Given the description of an element on the screen output the (x, y) to click on. 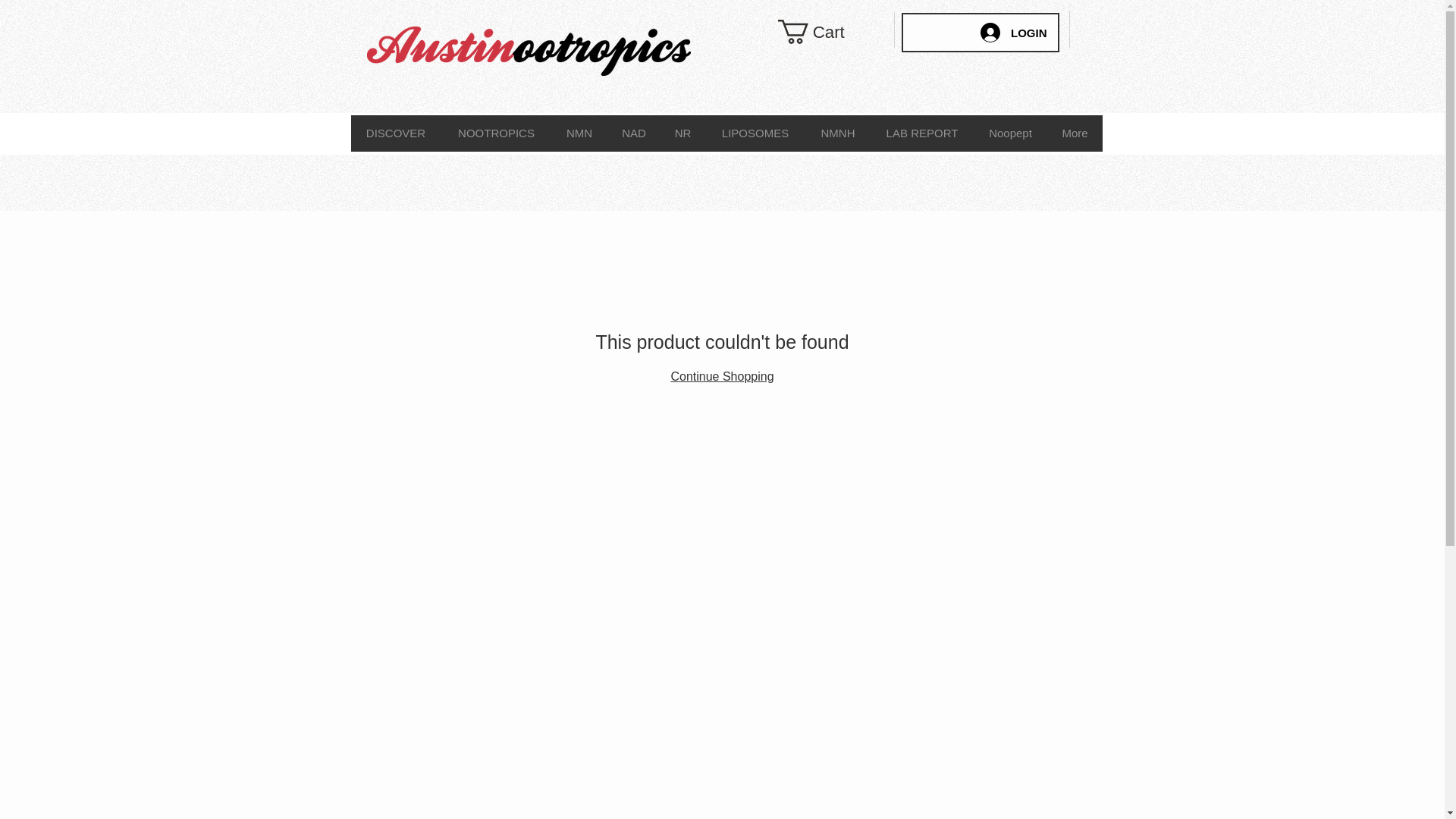
NAD (633, 133)
Continue Shopping (721, 376)
NR (681, 133)
Cart (824, 31)
LAB REPORT (922, 133)
LOGIN (1013, 32)
LIPOSOMES (754, 133)
NMN (578, 133)
Noopept (1010, 133)
DISCOVER (395, 133)
